Given the description of an element on the screen output the (x, y) to click on. 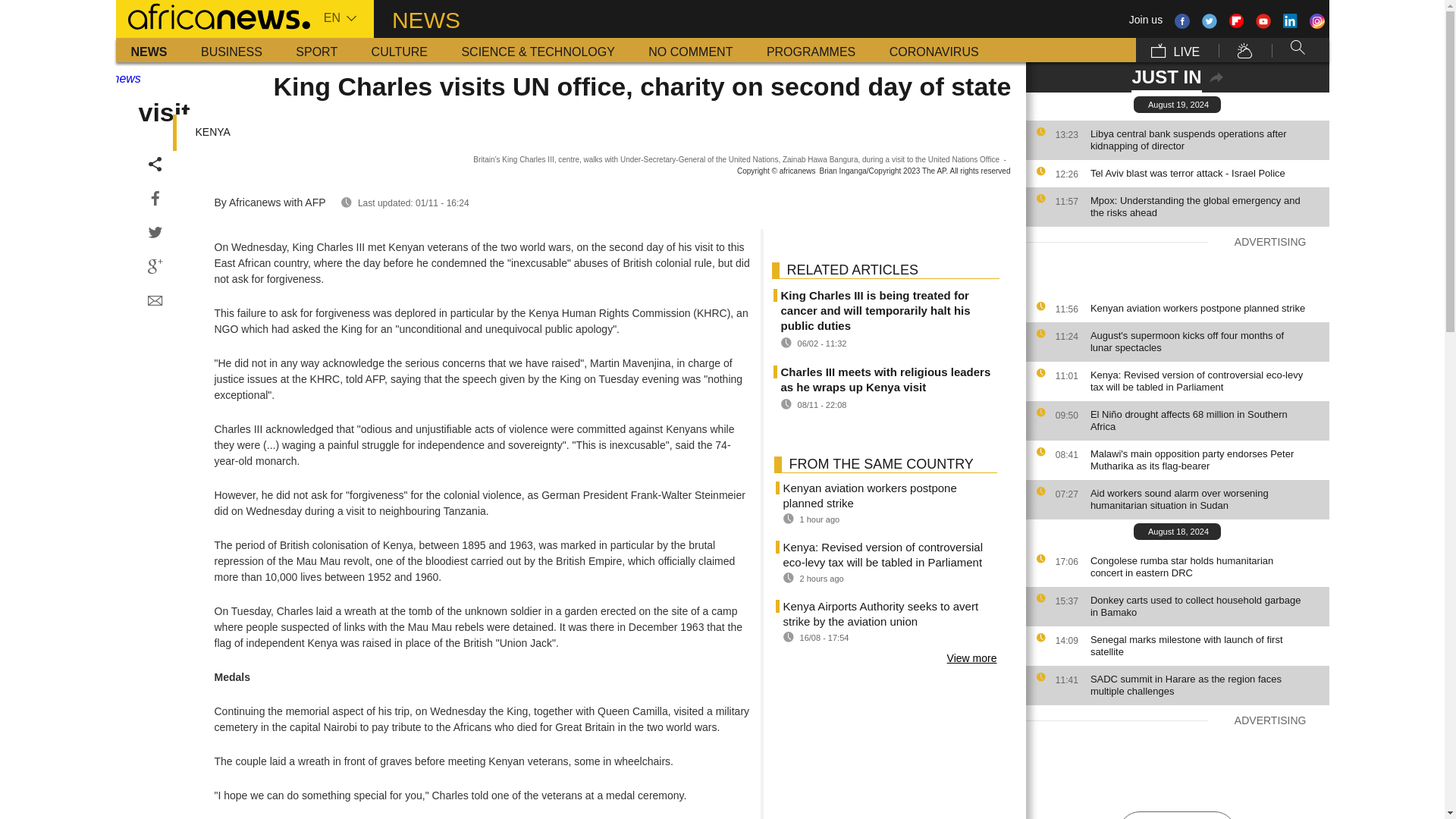
CORONAVIRUS (934, 49)
Sport (316, 49)
BUSINESS (232, 49)
LIVE (1174, 49)
No Comment (690, 49)
Kenyan aviation workers postpone planned strike (1206, 308)
NO COMMENT (690, 49)
Culture (399, 49)
Business (232, 49)
News (148, 49)
